Given the description of an element on the screen output the (x, y) to click on. 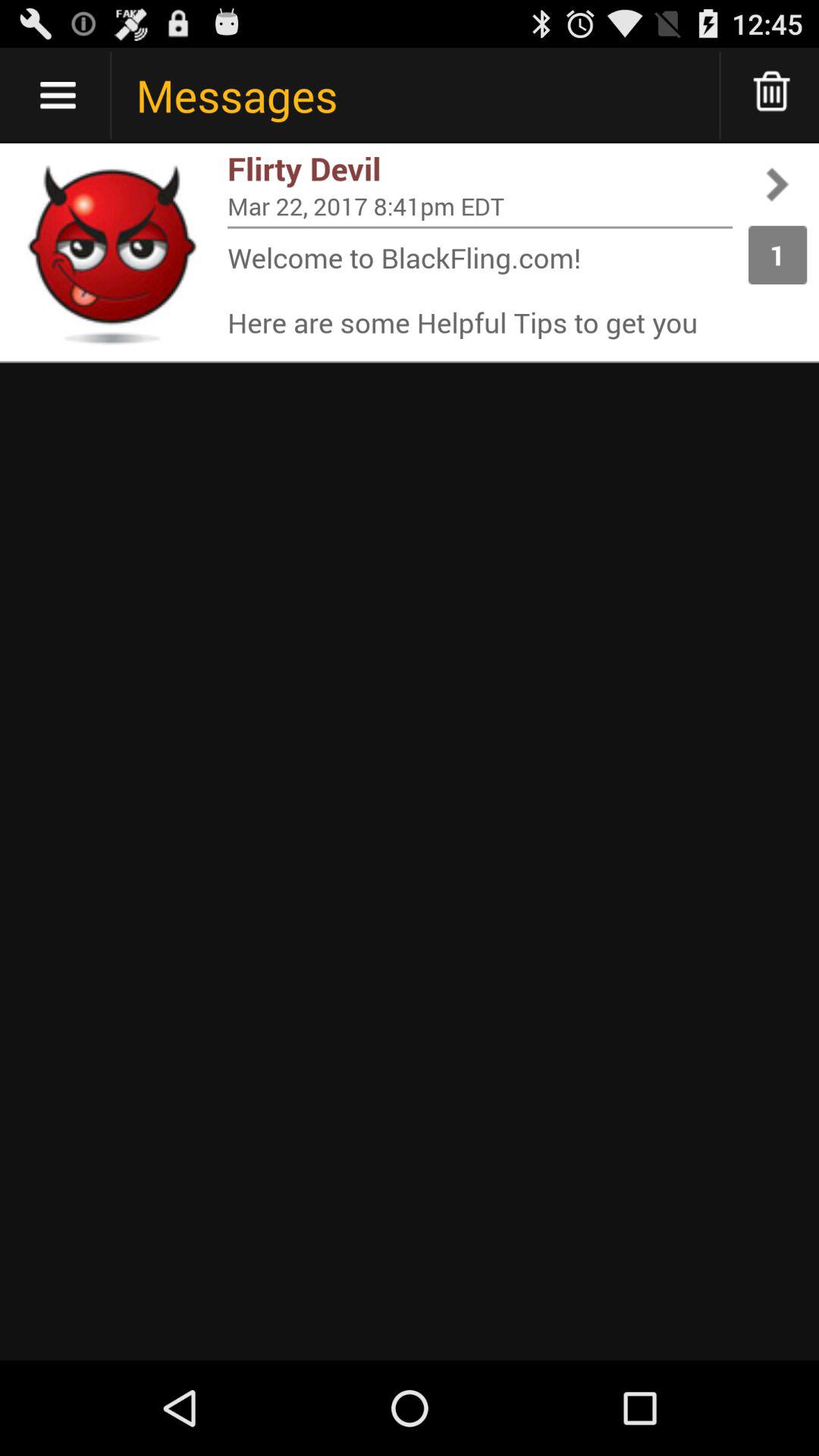
launch icon below the messages item (479, 168)
